Given the description of an element on the screen output the (x, y) to click on. 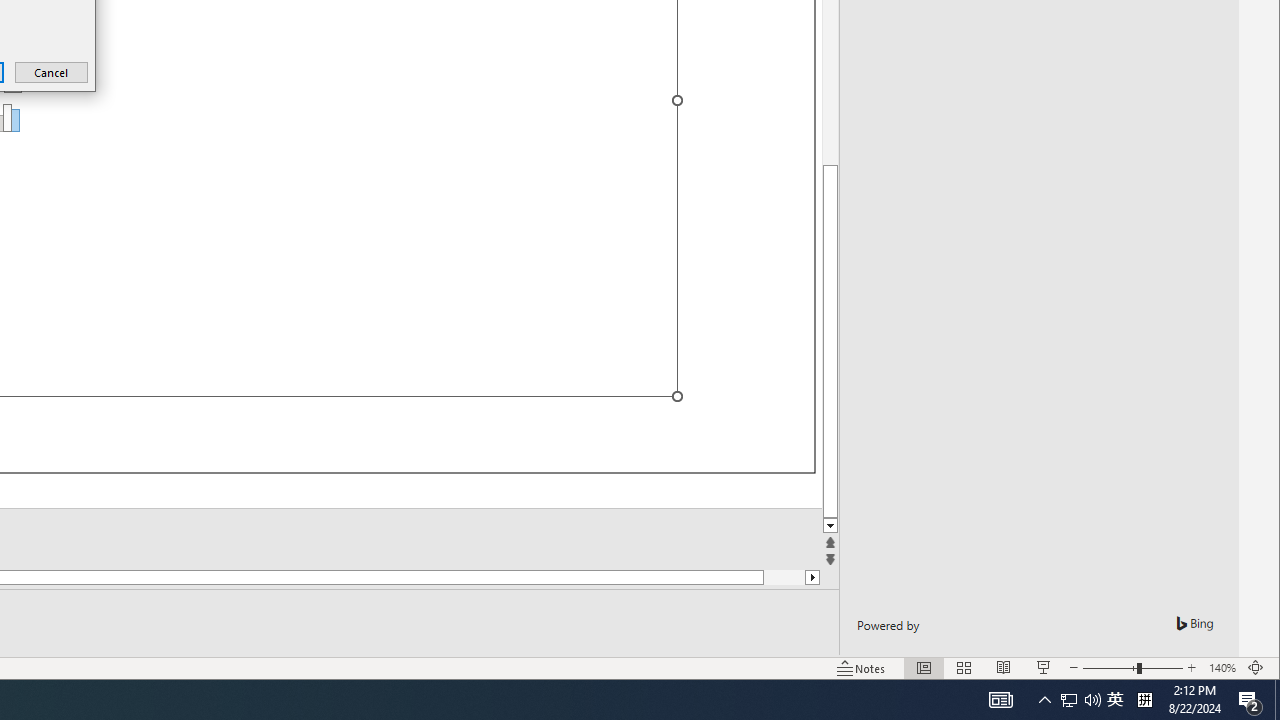
Zoom 140% (1222, 668)
Cancel (51, 72)
